Given the description of an element on the screen output the (x, y) to click on. 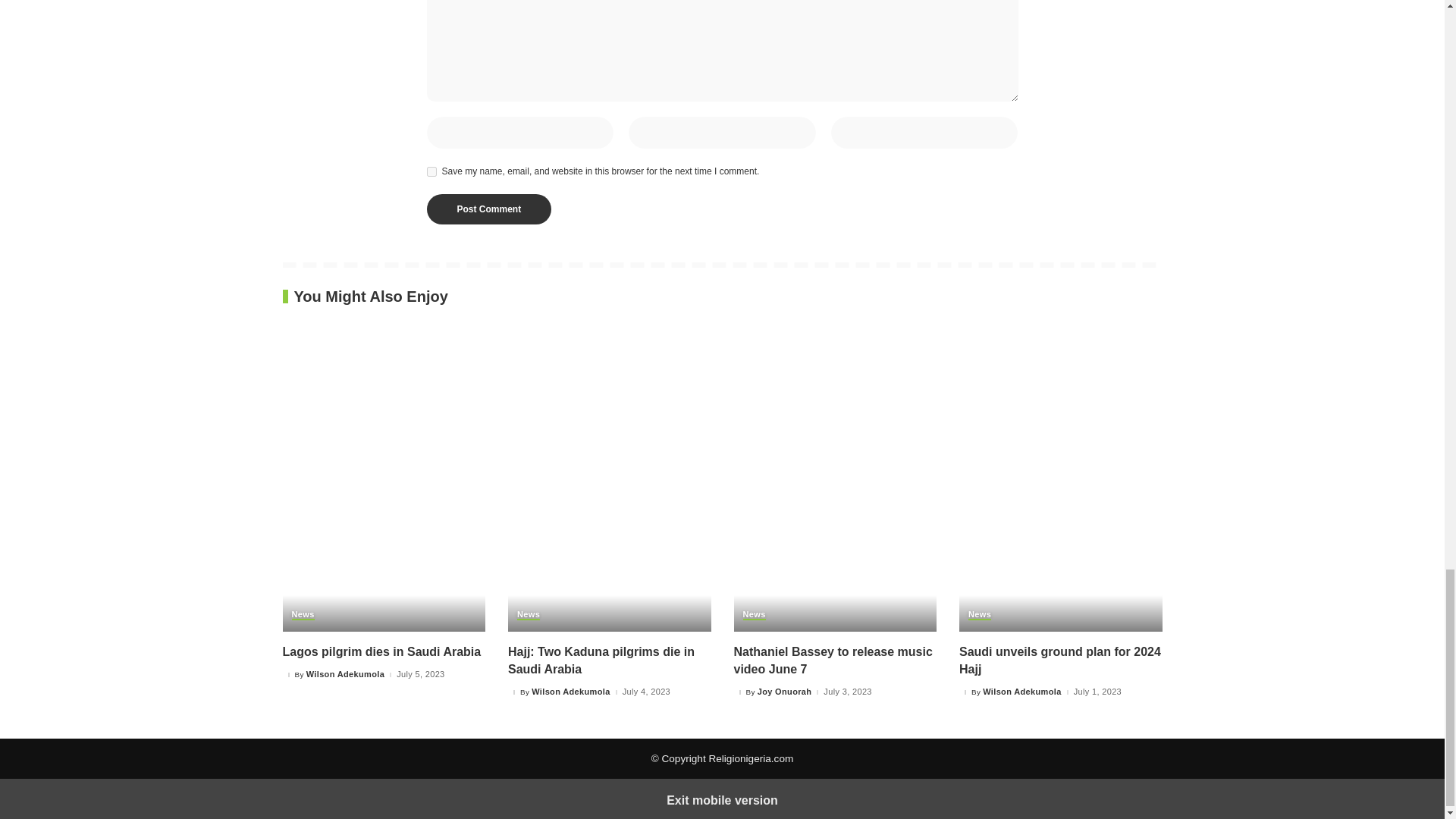
Nathaniel Bassey to release music video June 7 (833, 660)
Wilson Adekumola (344, 674)
News (753, 614)
Post Comment (488, 209)
News (528, 614)
News (302, 614)
Post Comment (488, 209)
Lagos pilgrim dies in Saudi Arabia (381, 651)
Hajj: Two Kaduna pilgrims die in Saudi Arabia (601, 660)
Wilson Adekumola (570, 691)
yes (430, 171)
